Given the description of an element on the screen output the (x, y) to click on. 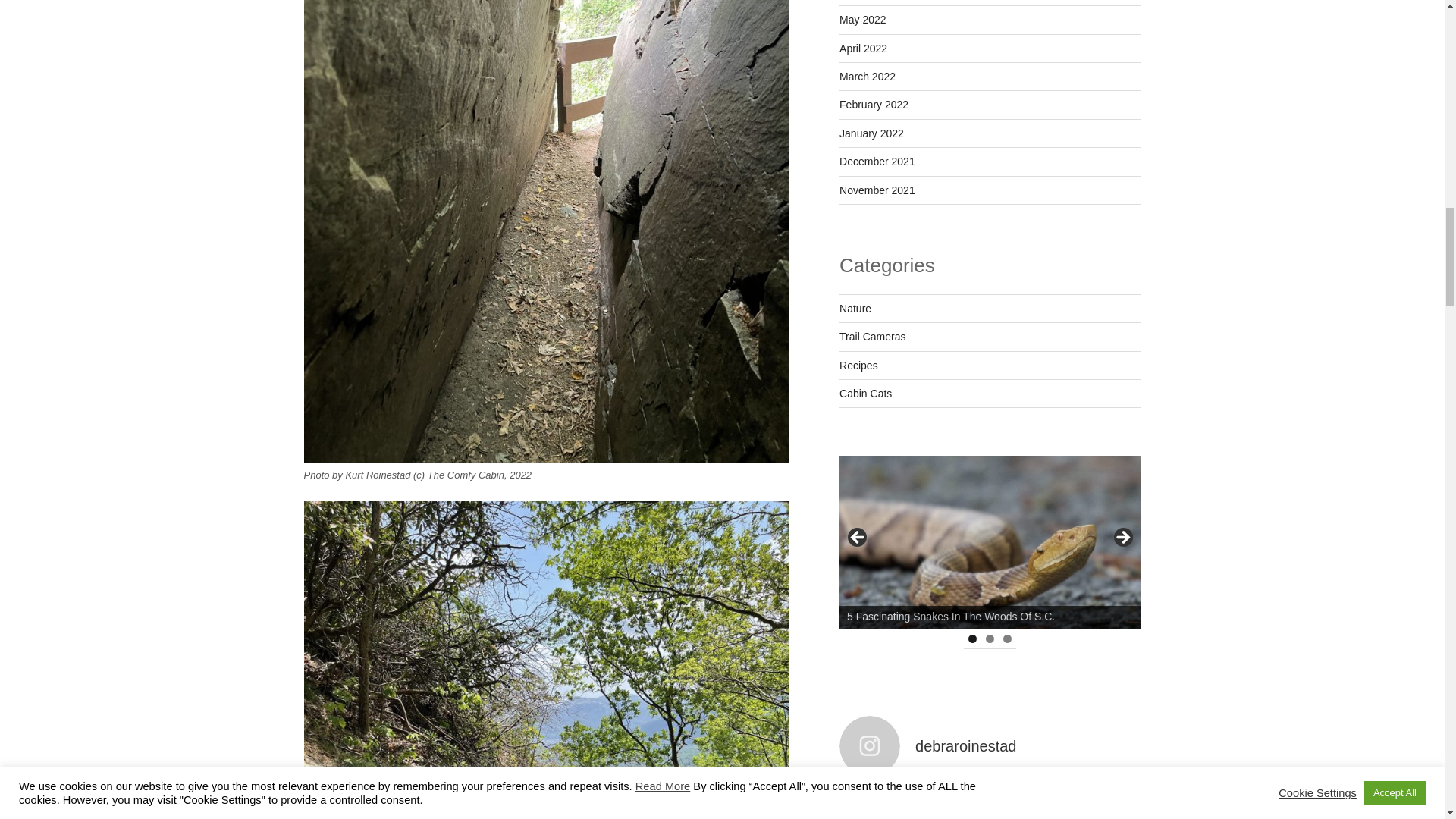
snakes of south carolina (990, 541)
